Given the description of an element on the screen output the (x, y) to click on. 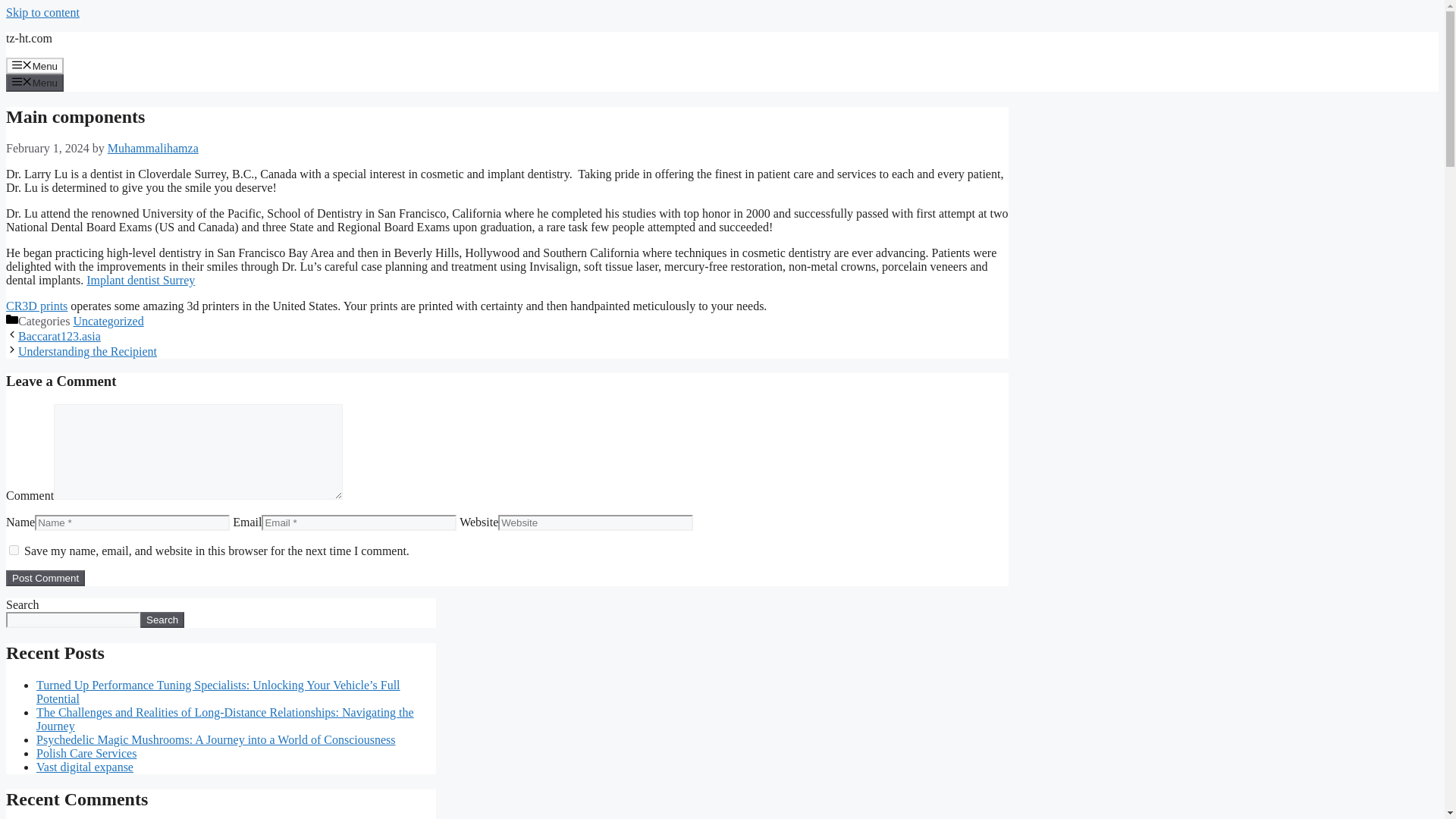
Polish Care Services (86, 753)
Post Comment (44, 578)
Search (161, 619)
Post Comment (44, 578)
Skip to content (42, 11)
Uncategorized (107, 320)
Skip to content (42, 11)
Menu (34, 82)
Understanding the Recipient (87, 350)
Menu (34, 65)
Implant dentist Surrey (140, 279)
Baccarat123.asia (58, 336)
Vast digital expanse (84, 766)
